Given the description of an element on the screen output the (x, y) to click on. 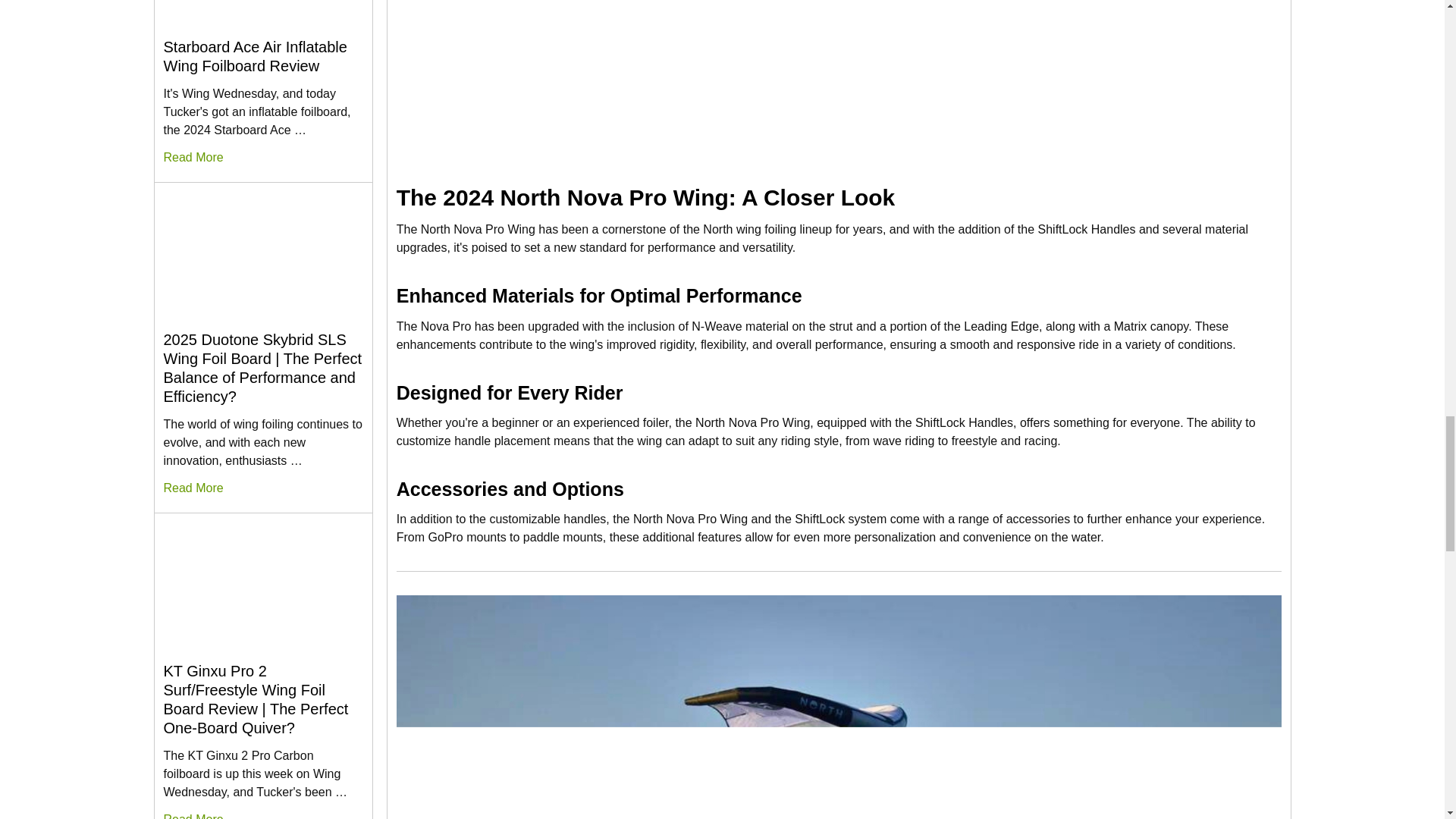
Starboard Ace Air Inflatable Wing Foilboard Review (262, 14)
